Given the description of an element on the screen output the (x, y) to click on. 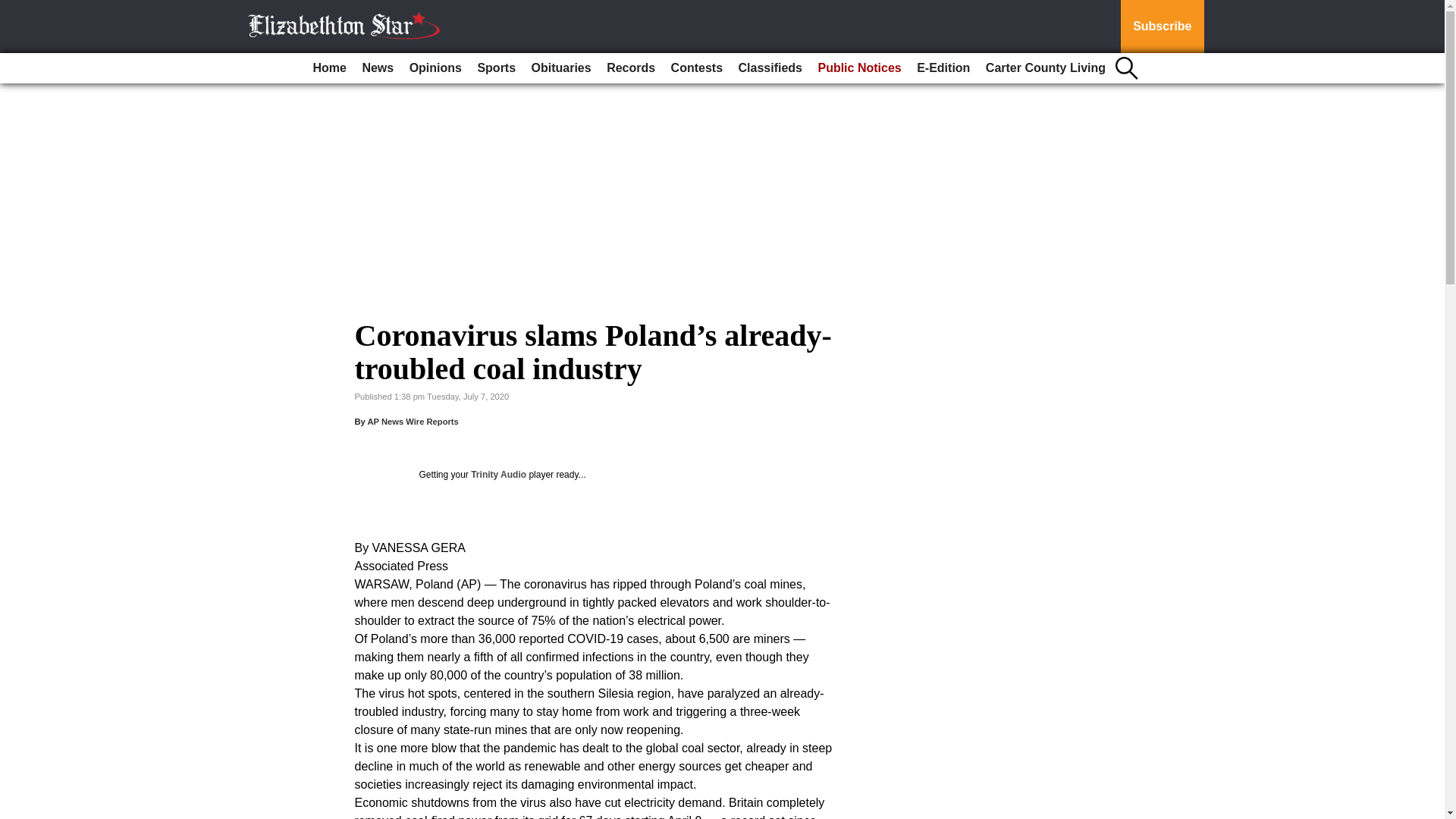
Opinions (435, 68)
AP News Wire Reports (412, 420)
Home (328, 68)
Obituaries (560, 68)
Trinity Audio (497, 474)
Contests (697, 68)
E-Edition (943, 68)
Sports (495, 68)
Subscribe (1162, 26)
Public Notices (858, 68)
